Given the description of an element on the screen output the (x, y) to click on. 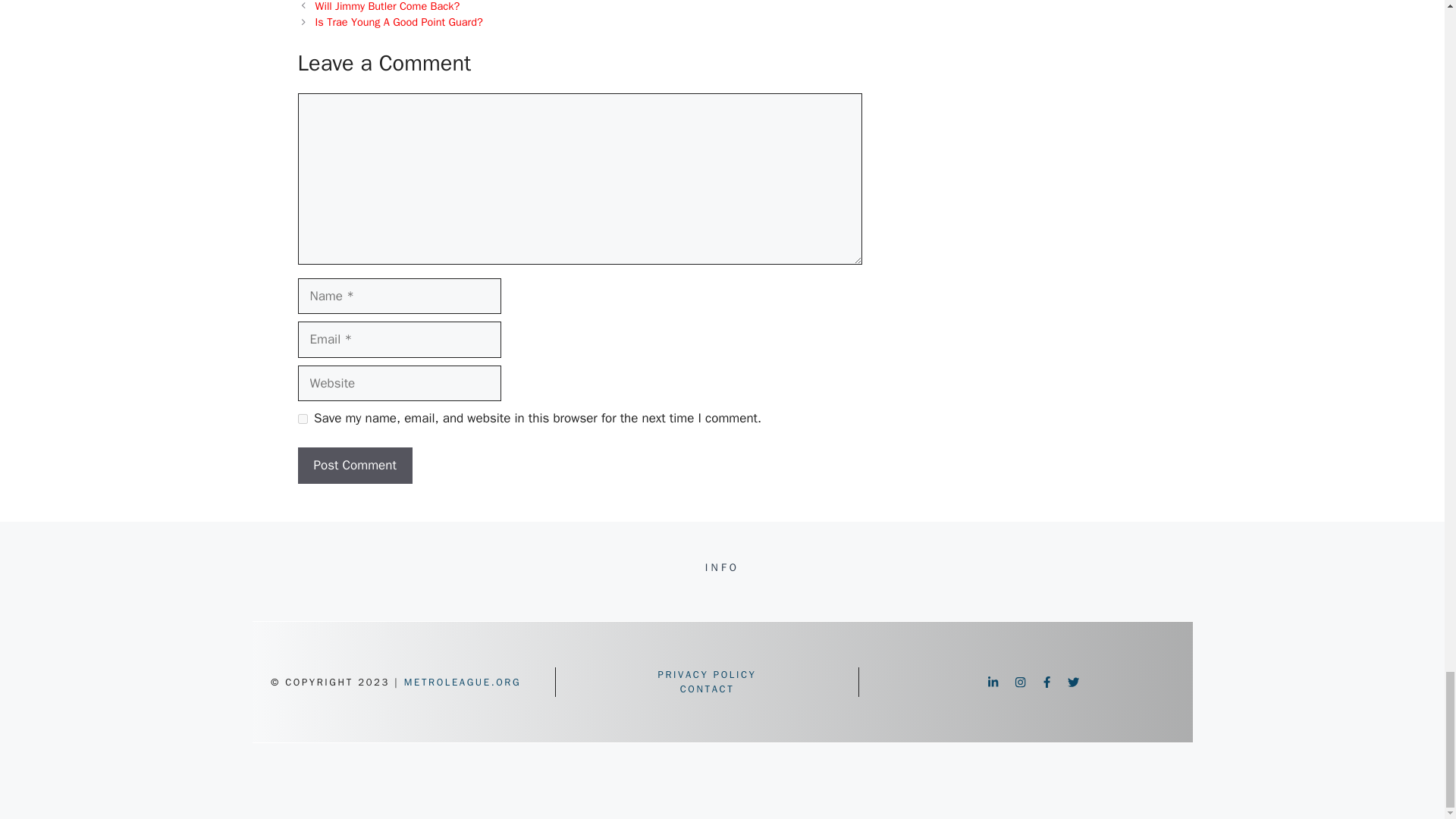
yes (302, 419)
Will Jimmy Butler Come Back? (387, 6)
Post Comment (354, 465)
Post Comment (354, 465)
Is Trae Young A Good Point Guard? (399, 21)
